Given the description of an element on the screen output the (x, y) to click on. 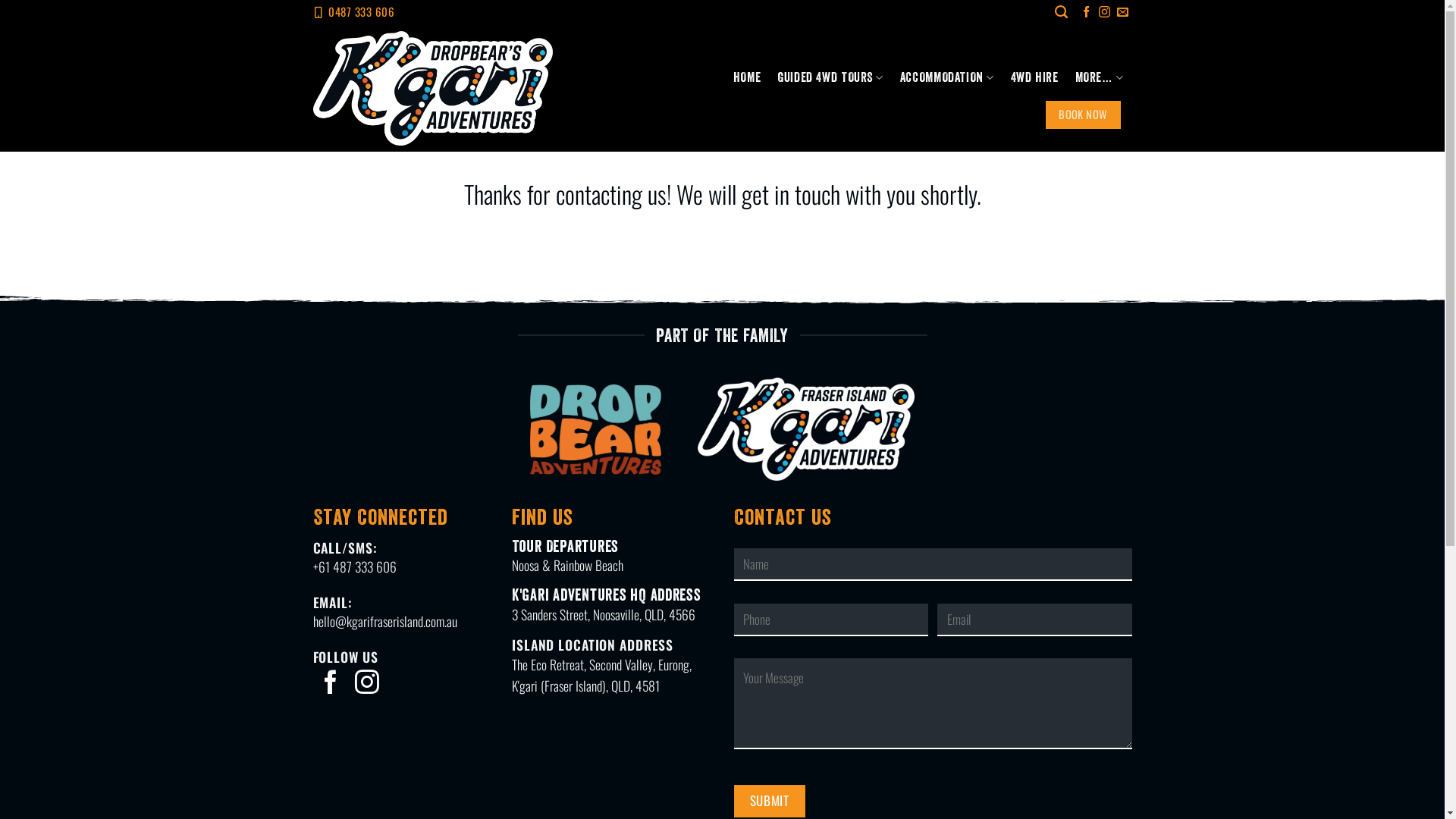
Follow on Instagram Element type: hover (1104, 12)
4WD HIRE Element type: text (1034, 76)
Skip to content Element type: text (0, 0)
Follow on Facebook Element type: hover (1086, 12)
hello@kgarifraserisland.com.au Element type: text (384, 620)
ACCOMMODATION Element type: text (947, 76)
Follow on Facebook Element type: hover (330, 683)
BOOK NOW Element type: text (1082, 114)
+61 487 333 606 Element type: text (353, 566)
GUIDED 4WD TOURS Element type: text (830, 76)
0487 333 606 Element type: text (361, 11)
HOME Element type: text (746, 76)
Eurong, K'gari (Fraser Island), QLD, 4581 Element type: text (601, 674)
Submit Element type: text (769, 800)
Send us an email Element type: hover (1122, 12)
Follow on Instagram Element type: hover (366, 683)
